Given the description of an element on the screen output the (x, y) to click on. 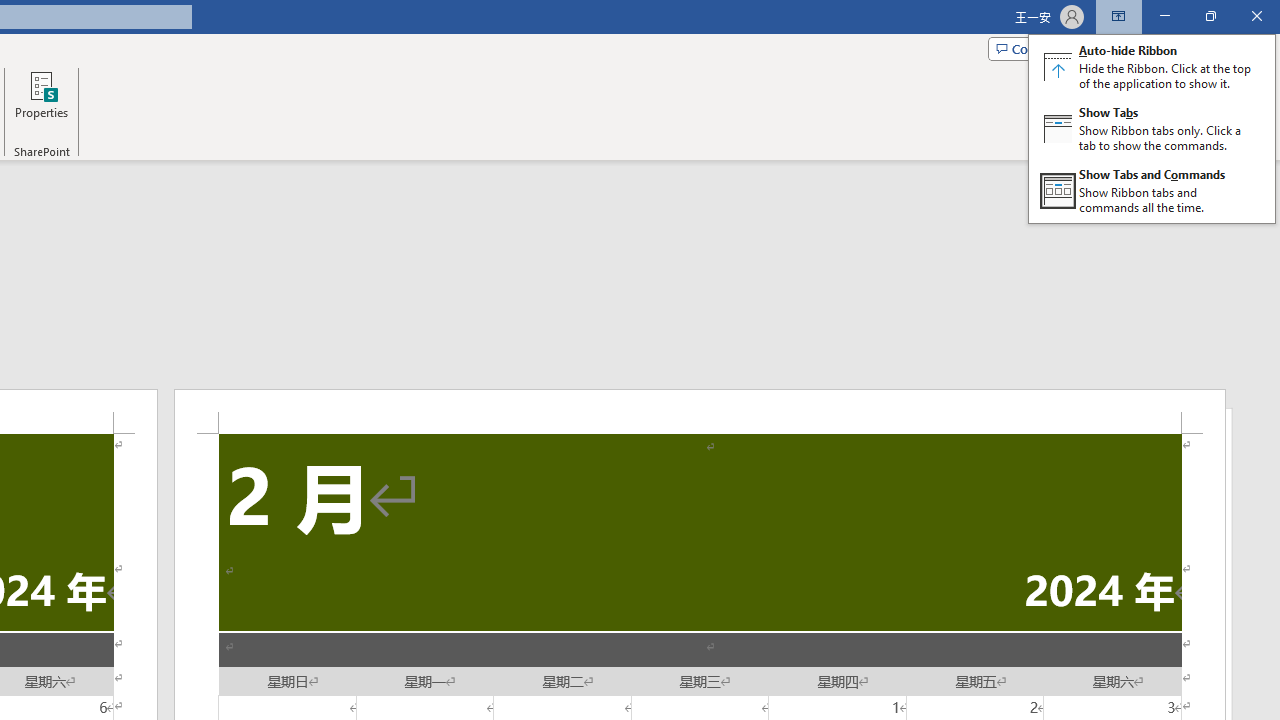
Header -Section 2- (700, 411)
Properties (41, 102)
Ribbon Display Options (1118, 16)
Ribbon Display Options (1151, 128)
